Given the description of an element on the screen output the (x, y) to click on. 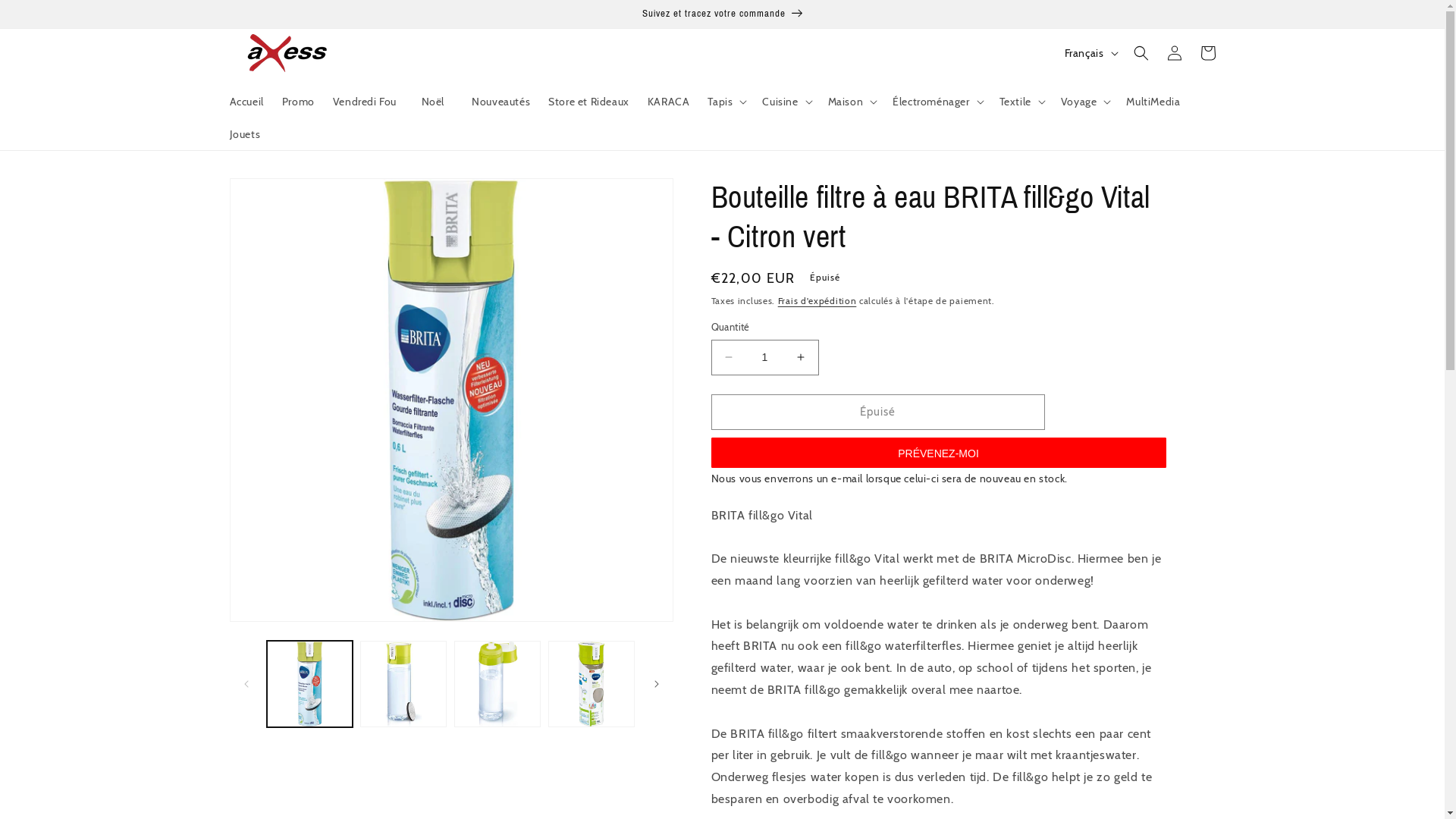
Passer aux informations produits Element type: text (275, 195)
Panier Element type: text (1206, 52)
Promo Element type: text (298, 101)
Suivez et tracez votre commande Element type: text (722, 14)
Connexion Element type: text (1173, 52)
KARACA Element type: text (668, 101)
Jouets Element type: text (244, 134)
Accueil Element type: text (245, 101)
Store et Rideaux Element type: text (588, 101)
MultiMedia Element type: text (1153, 101)
